Given the description of an element on the screen output the (x, y) to click on. 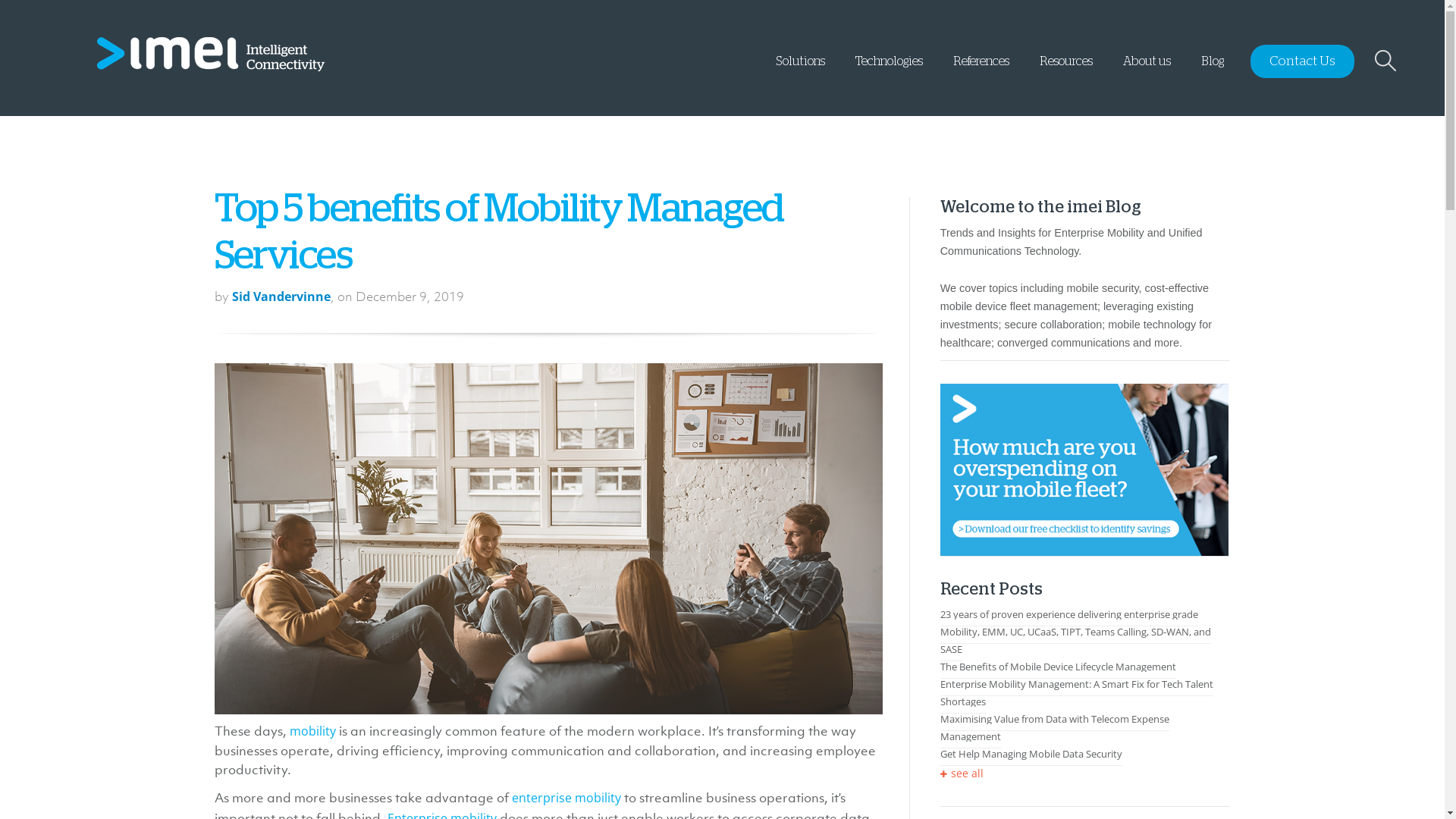
see all Element type: text (961, 772)
mobility Element type: text (312, 730)
Technologies Element type: text (889, 68)
imei_LOGO_website header 2019 Element type: hover (210, 54)
enterprise mobility Element type: text (565, 797)
Resources Element type: text (1065, 68)
Sid Vandervinne Element type: text (281, 296)
About us Element type: text (1146, 68)
Get Help Managing Mobile Data Security Element type: text (1031, 753)
The Benefits of Mobile Device Lifecycle Management Element type: text (1058, 666)
Contact Us Element type: text (1302, 61)
Maximising Value from Data with Telecom Expense Management Element type: text (1054, 727)
References Element type: text (981, 68)
Solutions Element type: text (800, 68)
Blog Element type: text (1212, 68)
